Given the description of an element on the screen output the (x, y) to click on. 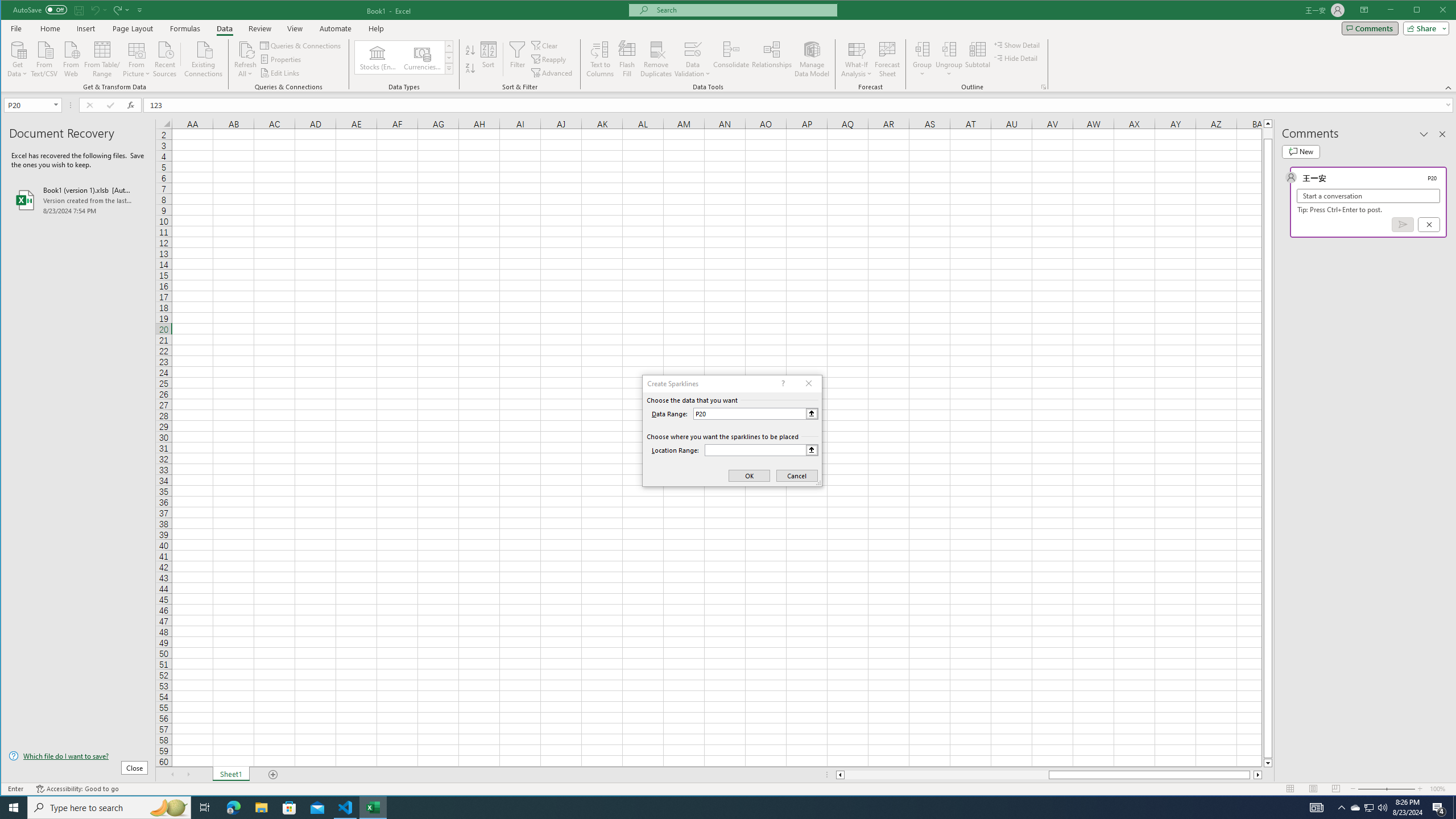
Start a conversation (1368, 195)
Cancel (1428, 224)
Sort Smallest to Largest (470, 49)
